Given the description of an element on the screen output the (x, y) to click on. 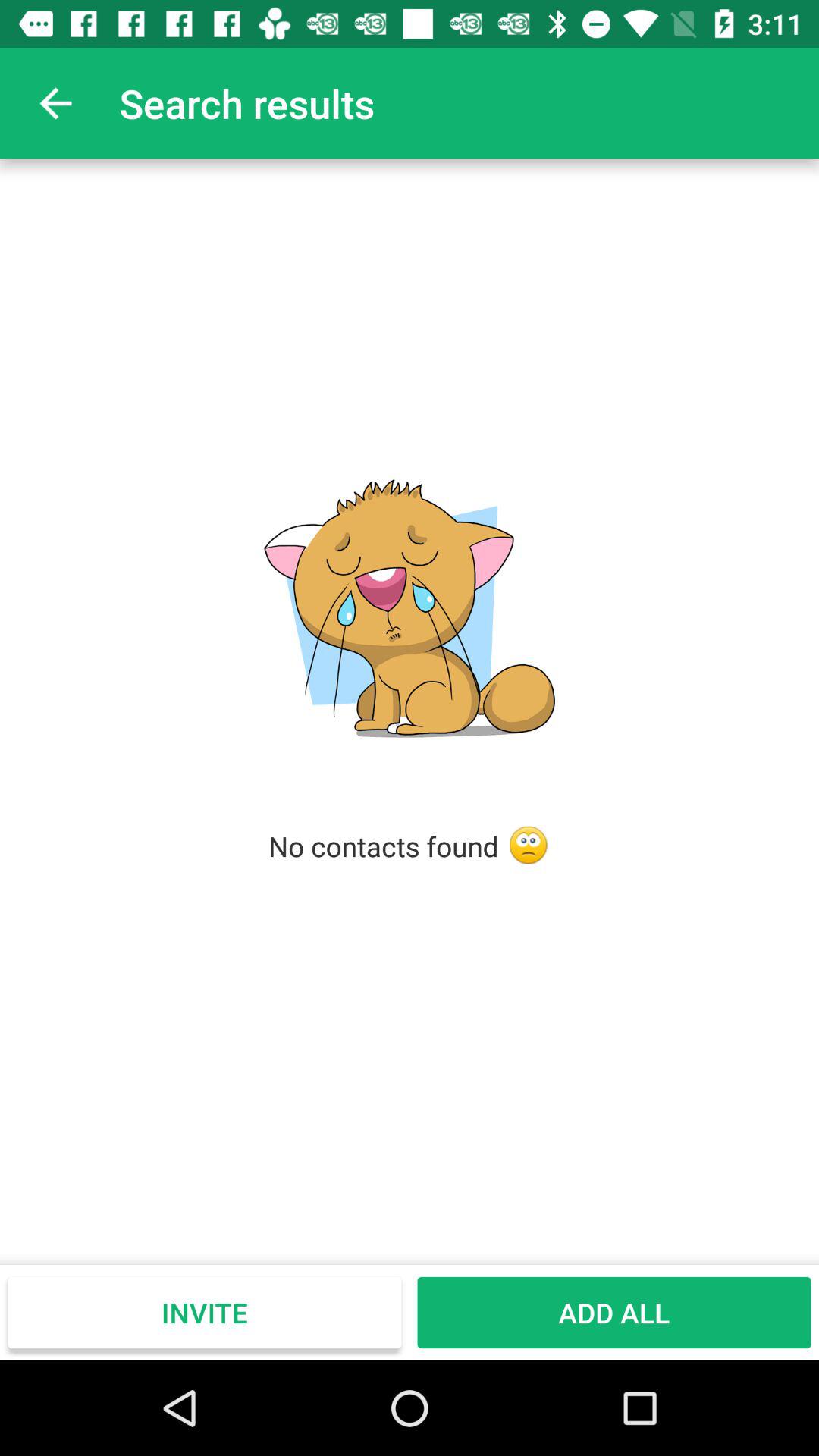
jump to add all item (614, 1312)
